Given the description of an element on the screen output the (x, y) to click on. 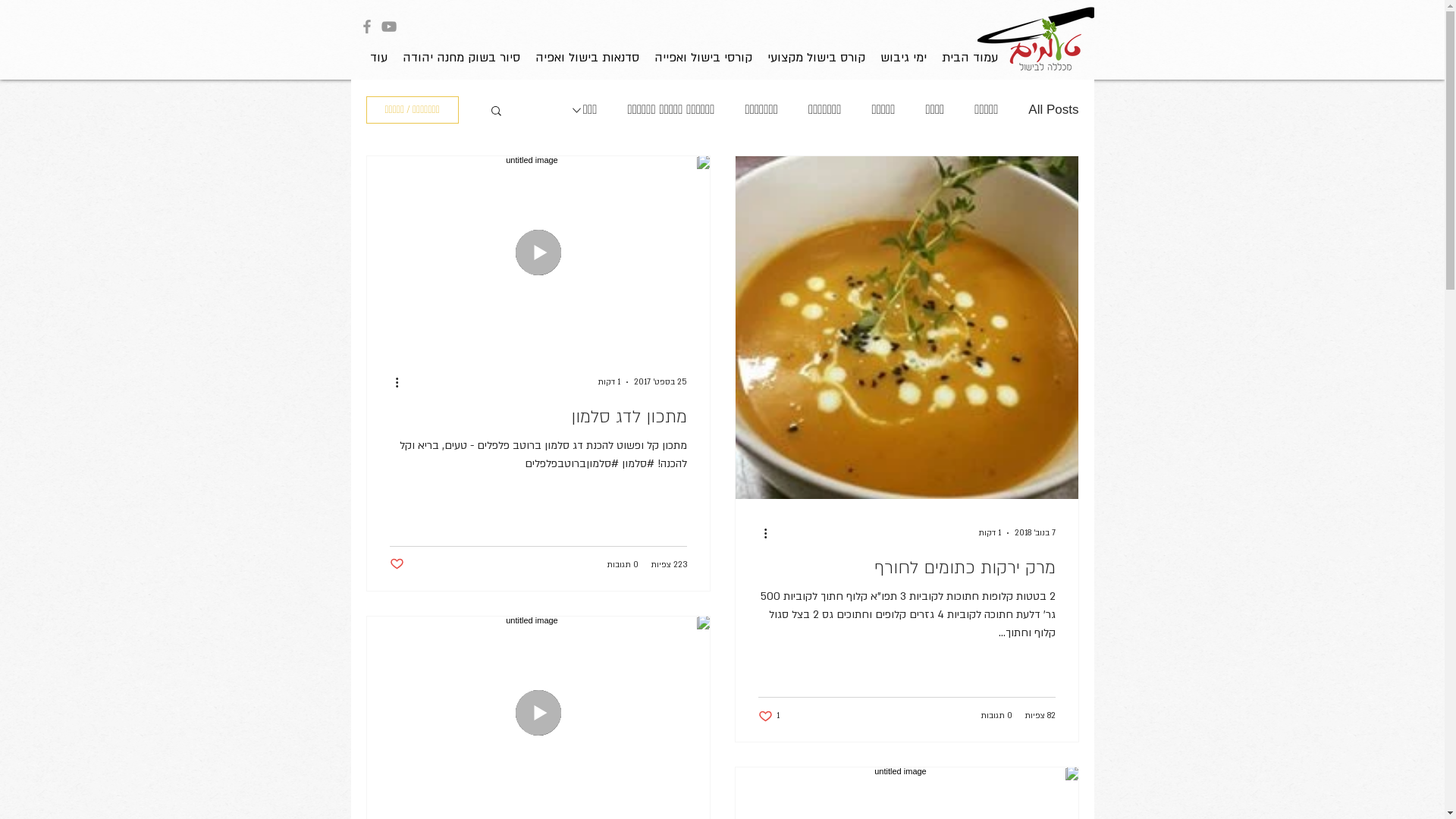
All Posts Element type: text (1053, 109)
